Given the description of an element on the screen output the (x, y) to click on. 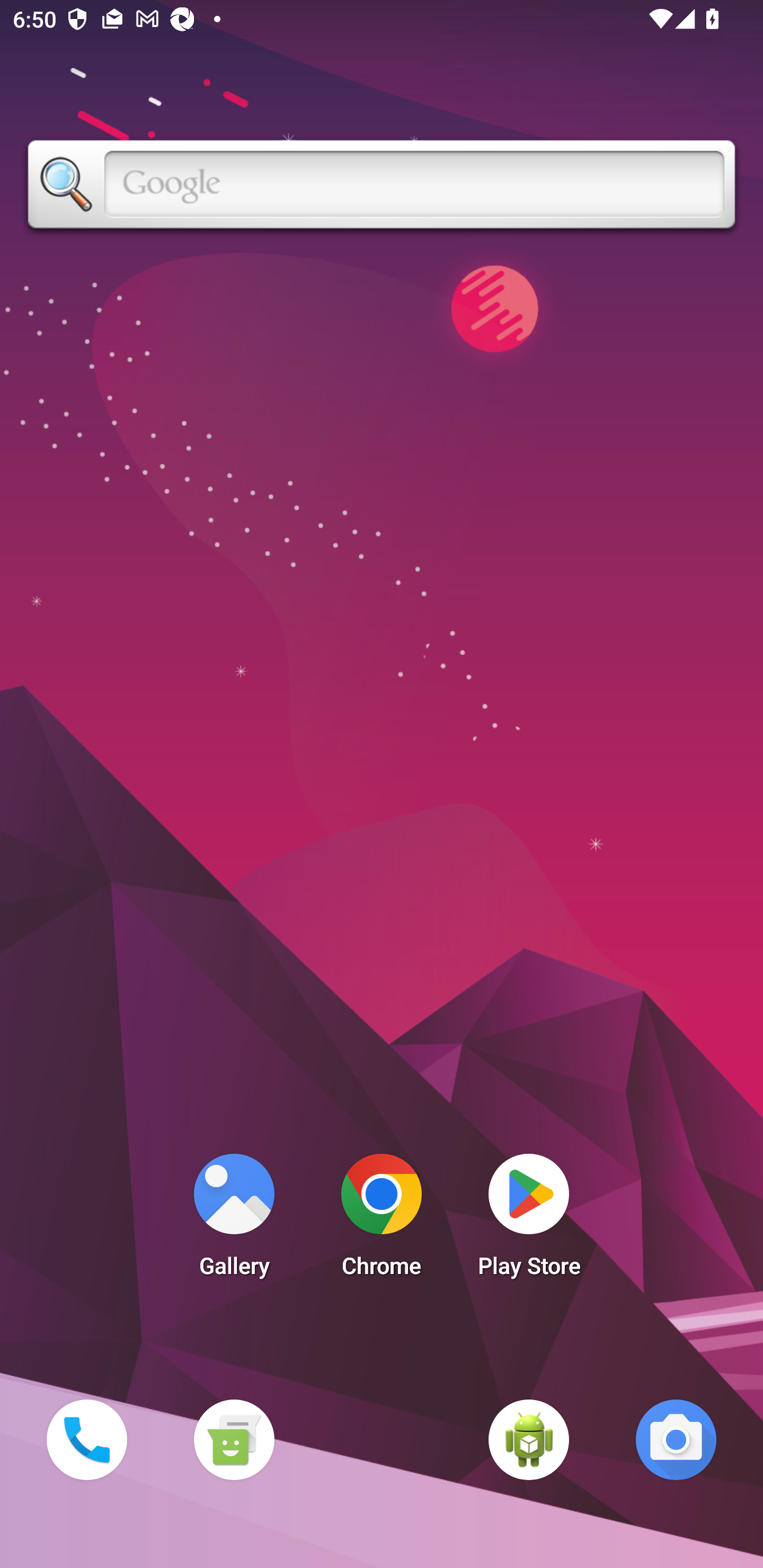
Gallery (233, 1220)
Chrome (381, 1220)
Play Store (528, 1220)
Phone (86, 1439)
Messaging (233, 1439)
WebView Browser Tester (528, 1439)
Camera (676, 1439)
